Given the description of an element on the screen output the (x, y) to click on. 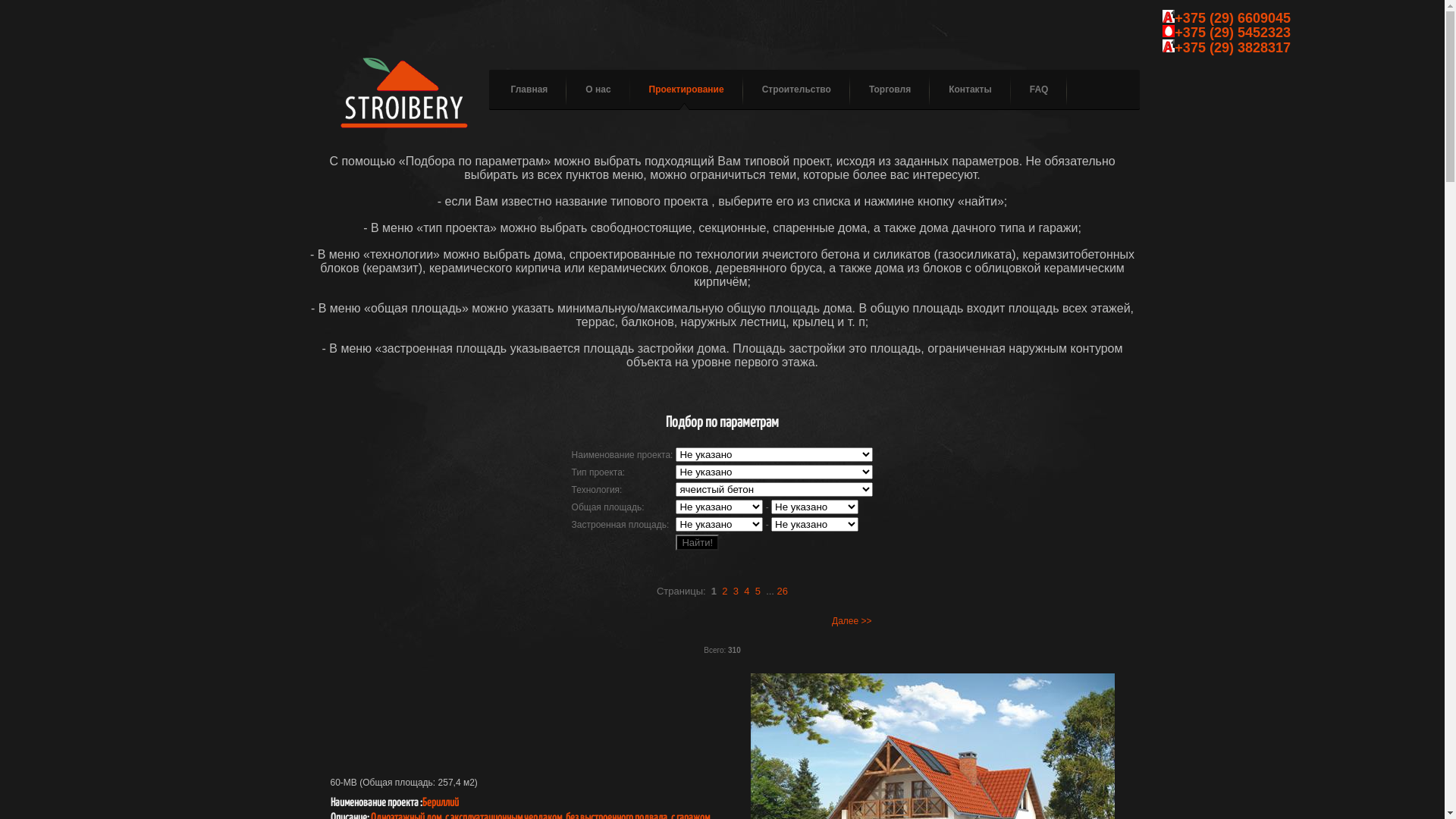
2 Element type: text (724, 590)
3 Element type: text (735, 590)
4 Element type: text (746, 590)
FAQ Element type: text (1029, 89)
5 Element type: text (757, 590)
26 Element type: text (782, 590)
